Given the description of an element on the screen output the (x, y) to click on. 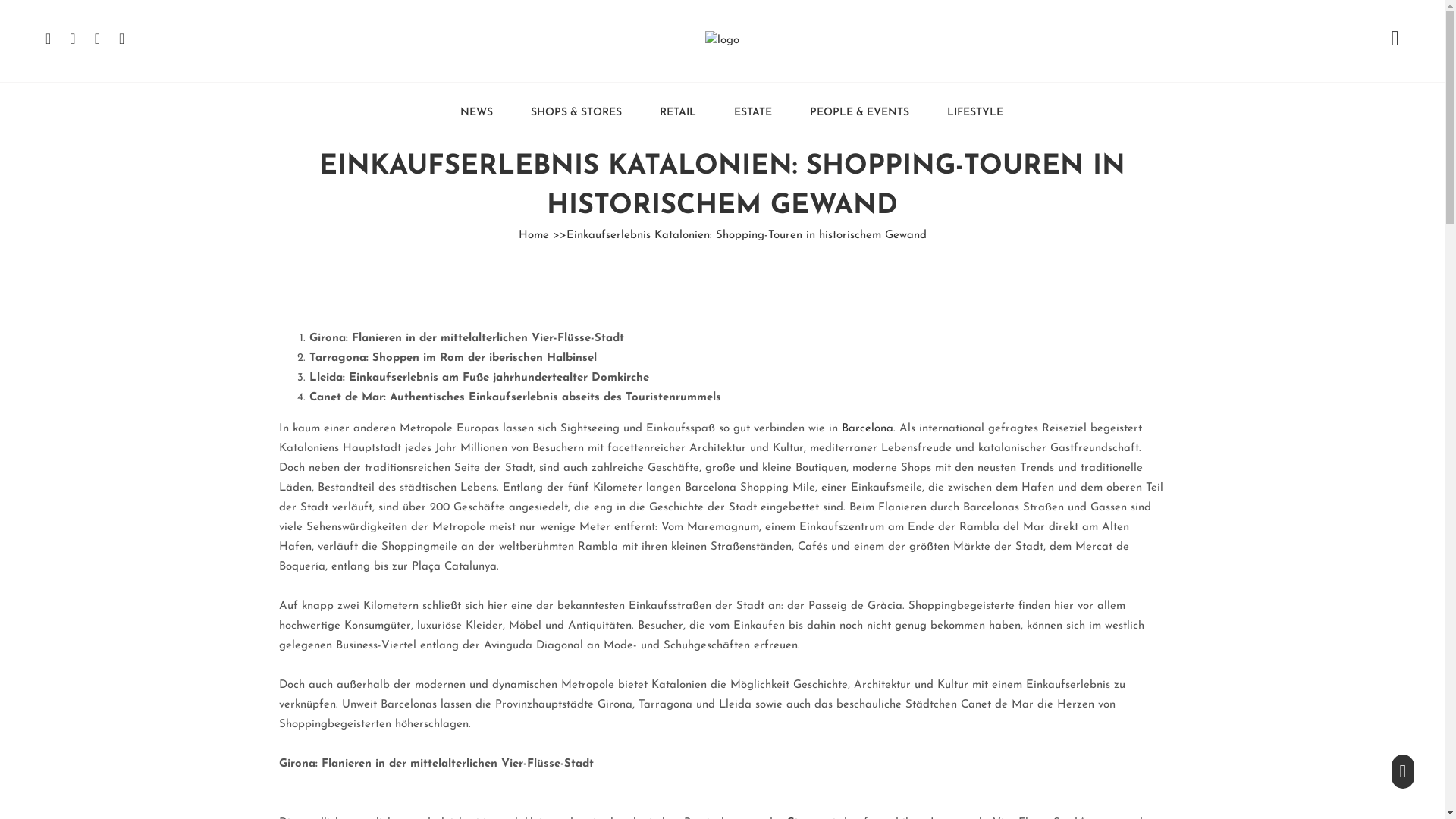
SHOPS & STORES Element type: text (566, 110)
Home >> Element type: text (542, 235)
Barcelona Element type: text (867, 428)
RETAIL Element type: text (668, 110)
NEWS Element type: text (466, 110)
PEOPLE & EVENTS Element type: text (849, 110)
ESTATE Element type: text (743, 110)
LIFESTYLE Element type: text (965, 110)
